Given the description of an element on the screen output the (x, y) to click on. 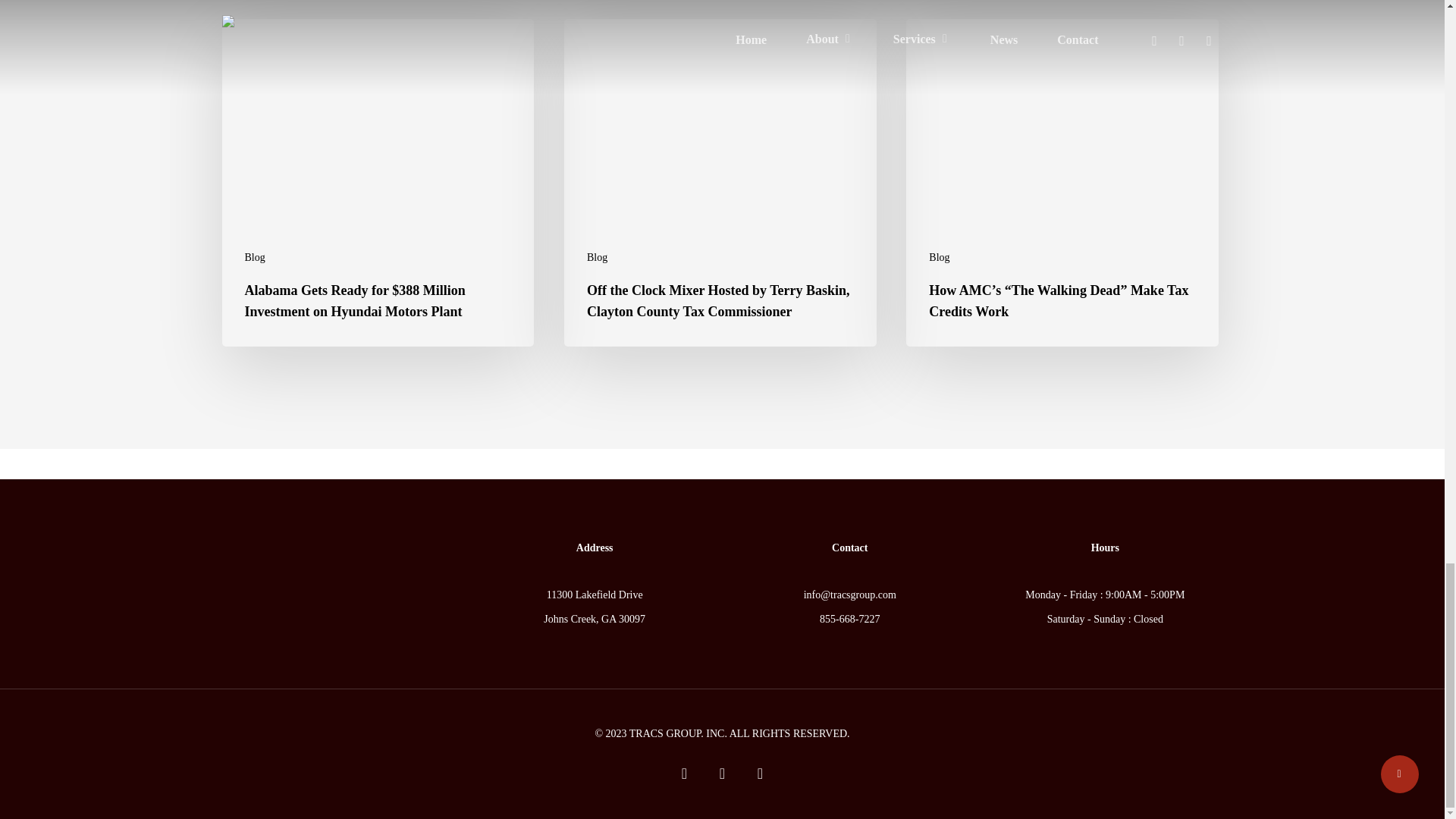
Blog (938, 257)
Blog (596, 257)
Blog (254, 257)
